Given the description of an element on the screen output the (x, y) to click on. 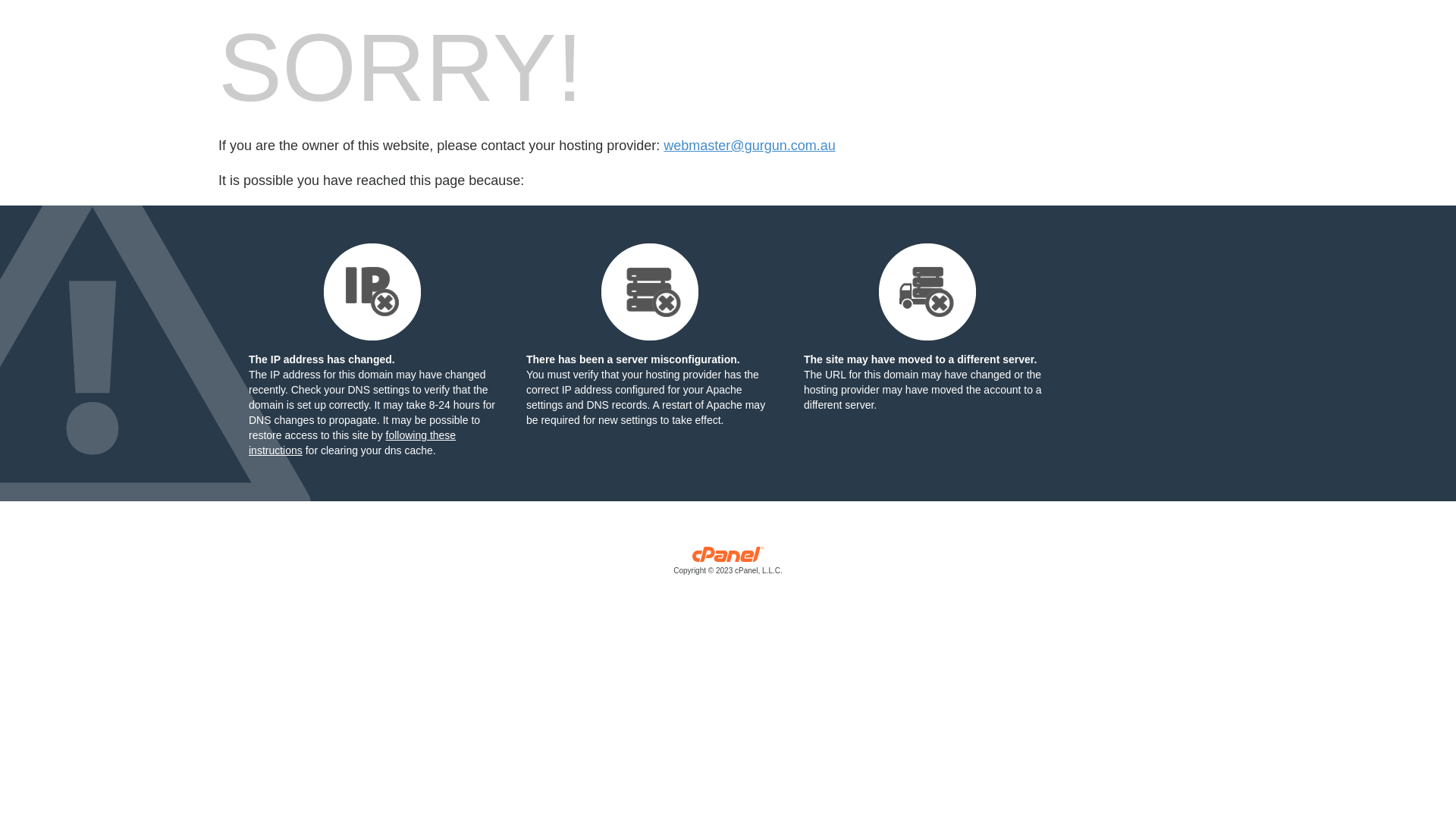
following these instructions Element type: text (351, 442)
webmaster@gurgun.com.au Element type: text (748, 145)
